Given the description of an element on the screen output the (x, y) to click on. 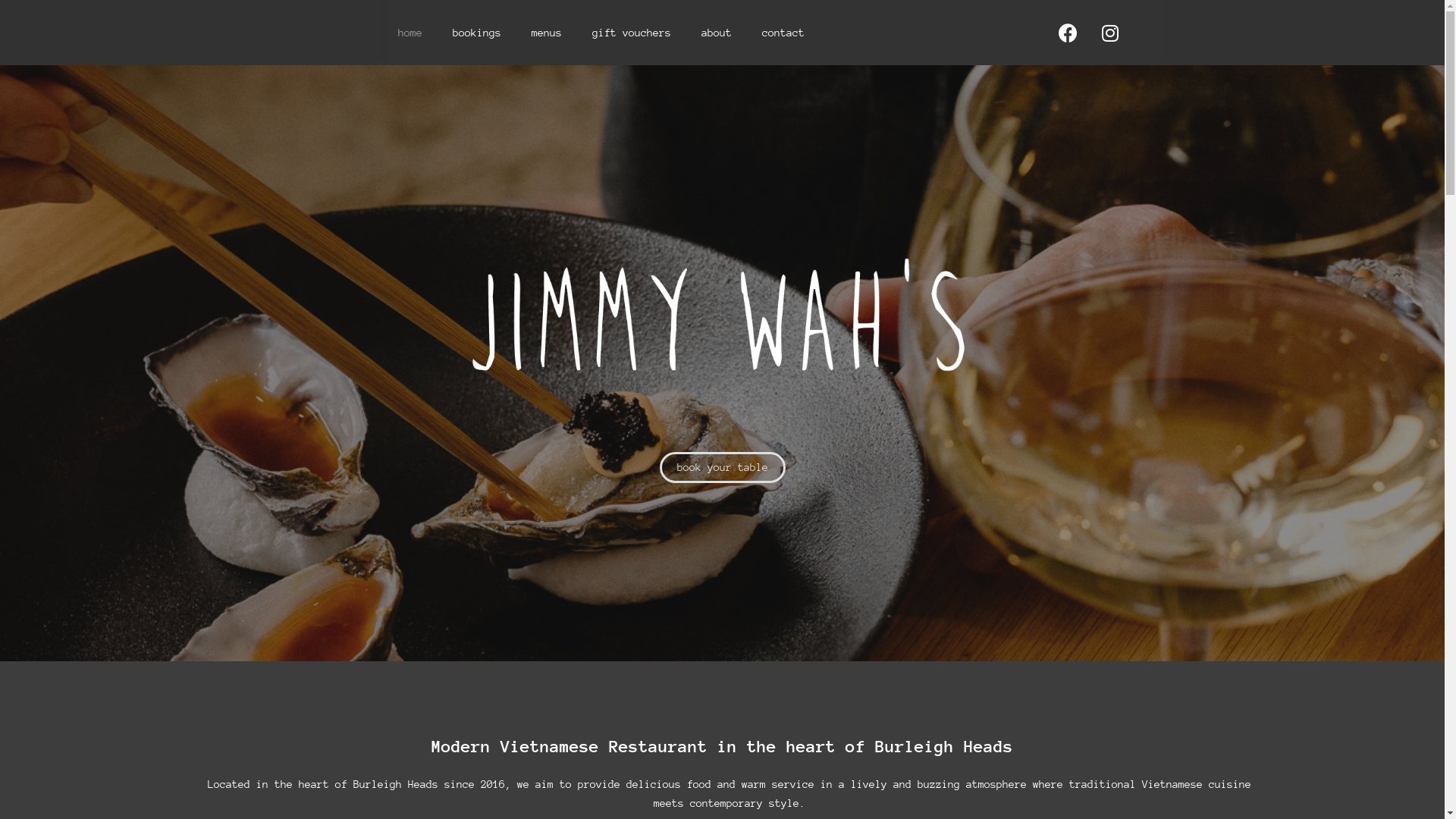
gift vouchers Element type: text (631, 32)
book your table Element type: text (722, 467)
about Element type: text (716, 32)
menus Element type: text (546, 32)
contact Element type: text (782, 32)
home Element type: text (409, 32)
bookings Element type: text (476, 32)
